Given the description of an element on the screen output the (x, y) to click on. 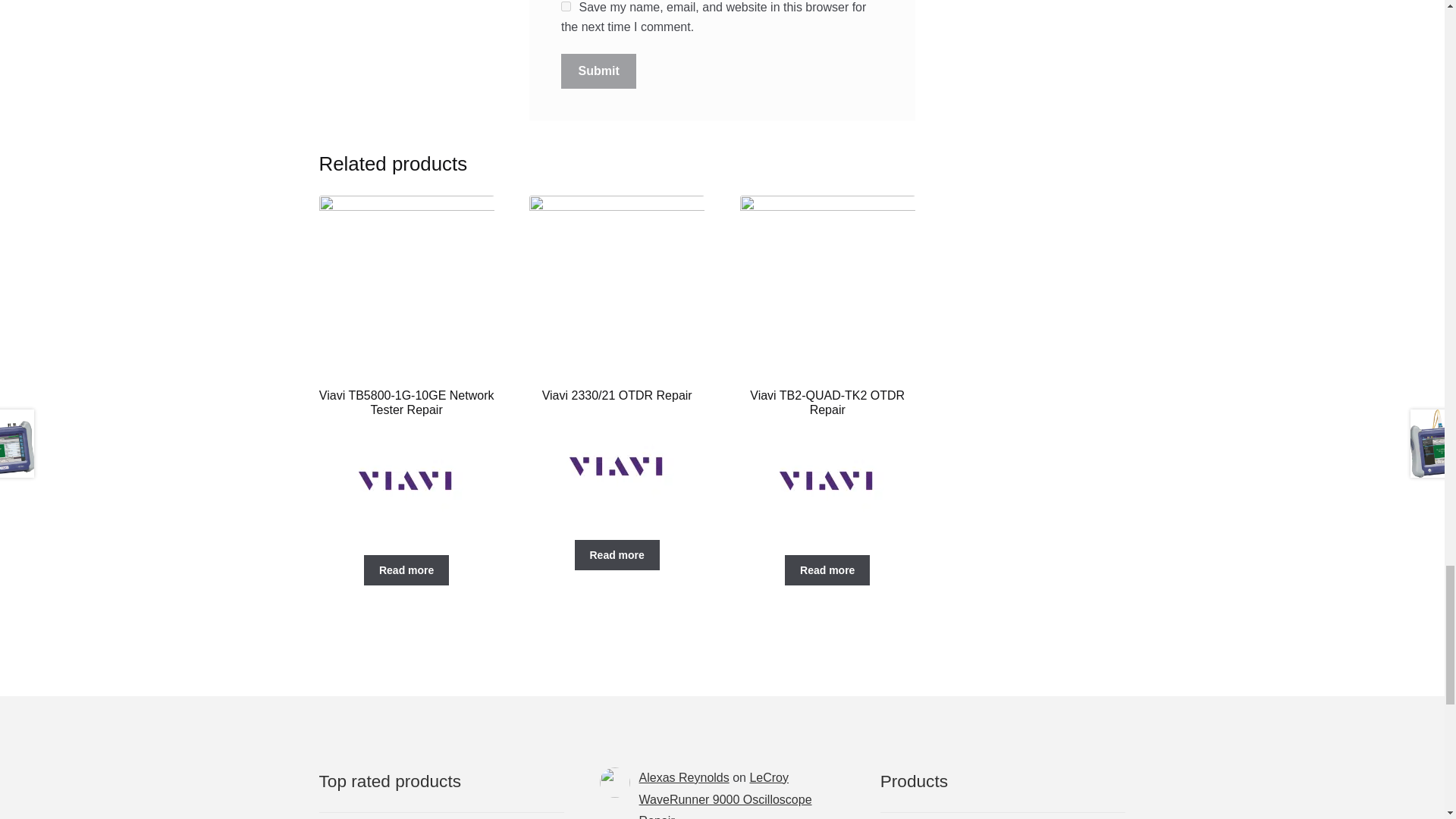
yes (565, 6)
Submit (598, 71)
